Given the description of an element on the screen output the (x, y) to click on. 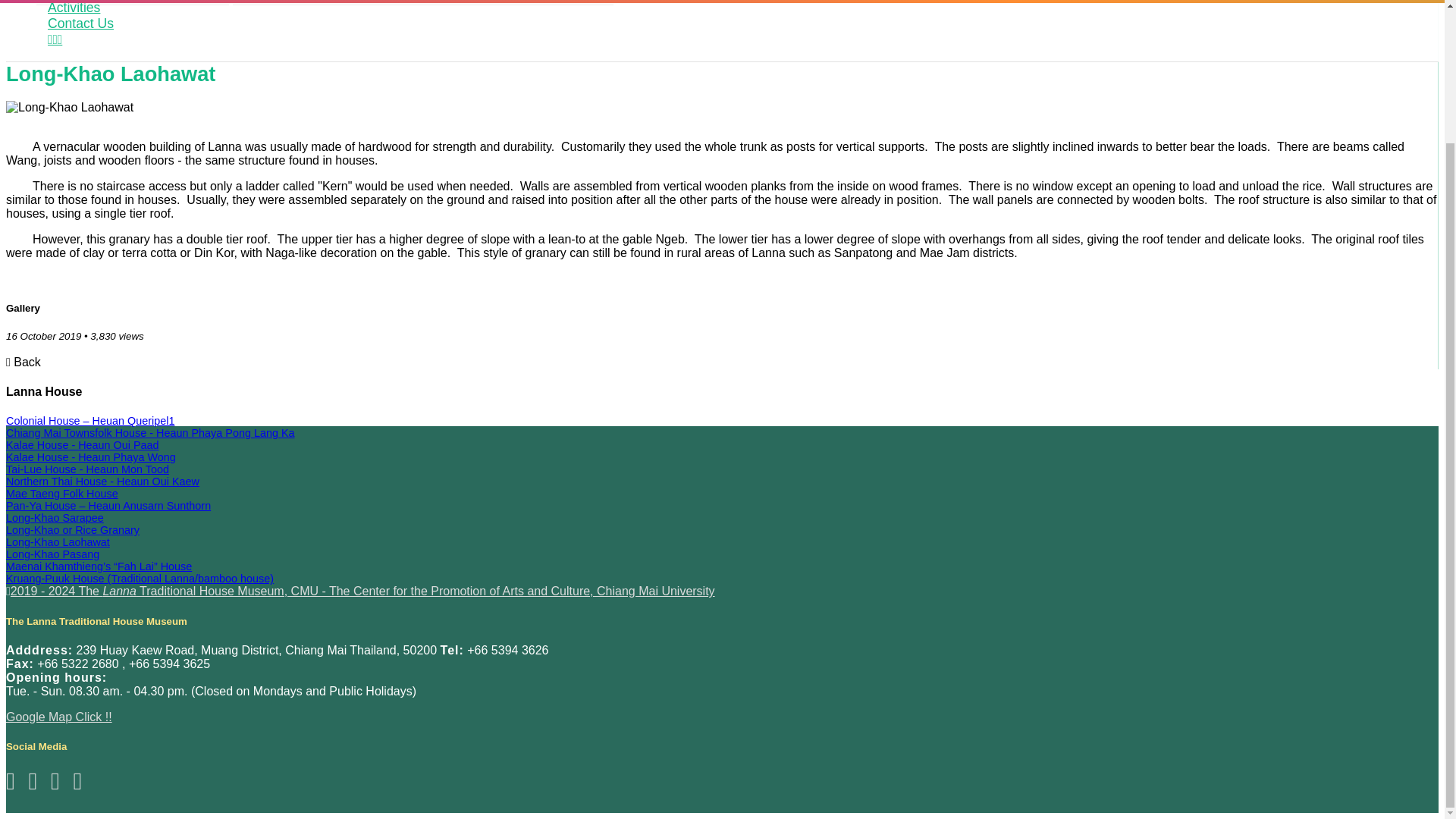
Contact Us (80, 23)
Activities (73, 7)
